Given the description of an element on the screen output the (x, y) to click on. 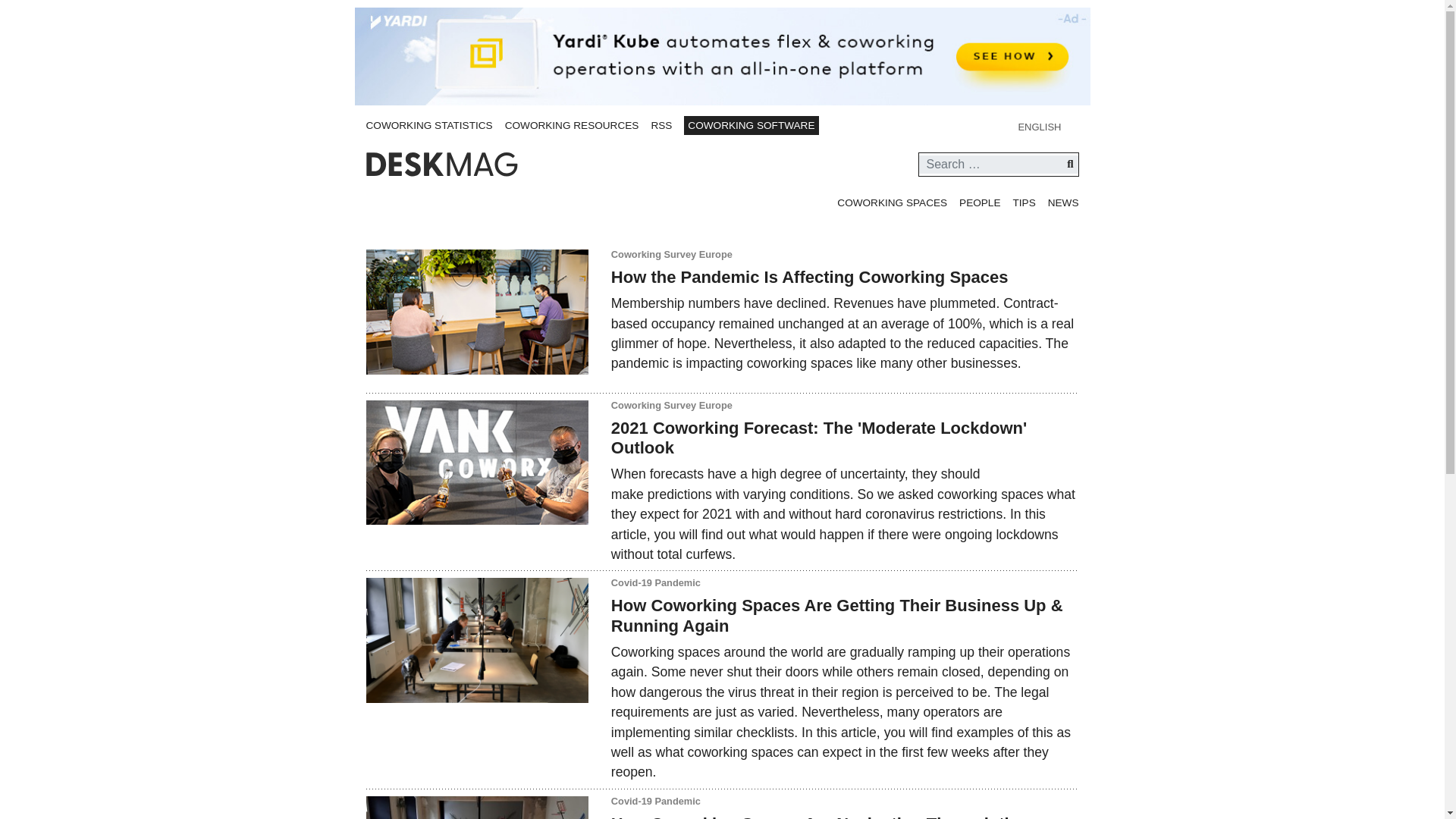
COWORKING SPACES (892, 202)
Dark mode (845, 125)
NEWS (1063, 202)
ENGLISH (1047, 126)
COWORKING RESOURCES (572, 125)
COWORKING SOFTWARE (751, 125)
St. Oberholz: A coworking space in Berlin in May 2020. (476, 640)
PEOPLE (979, 202)
COWORKING STATISTICS (428, 125)
TIPS (1024, 202)
RSS (660, 125)
